Given the description of an element on the screen output the (x, y) to click on. 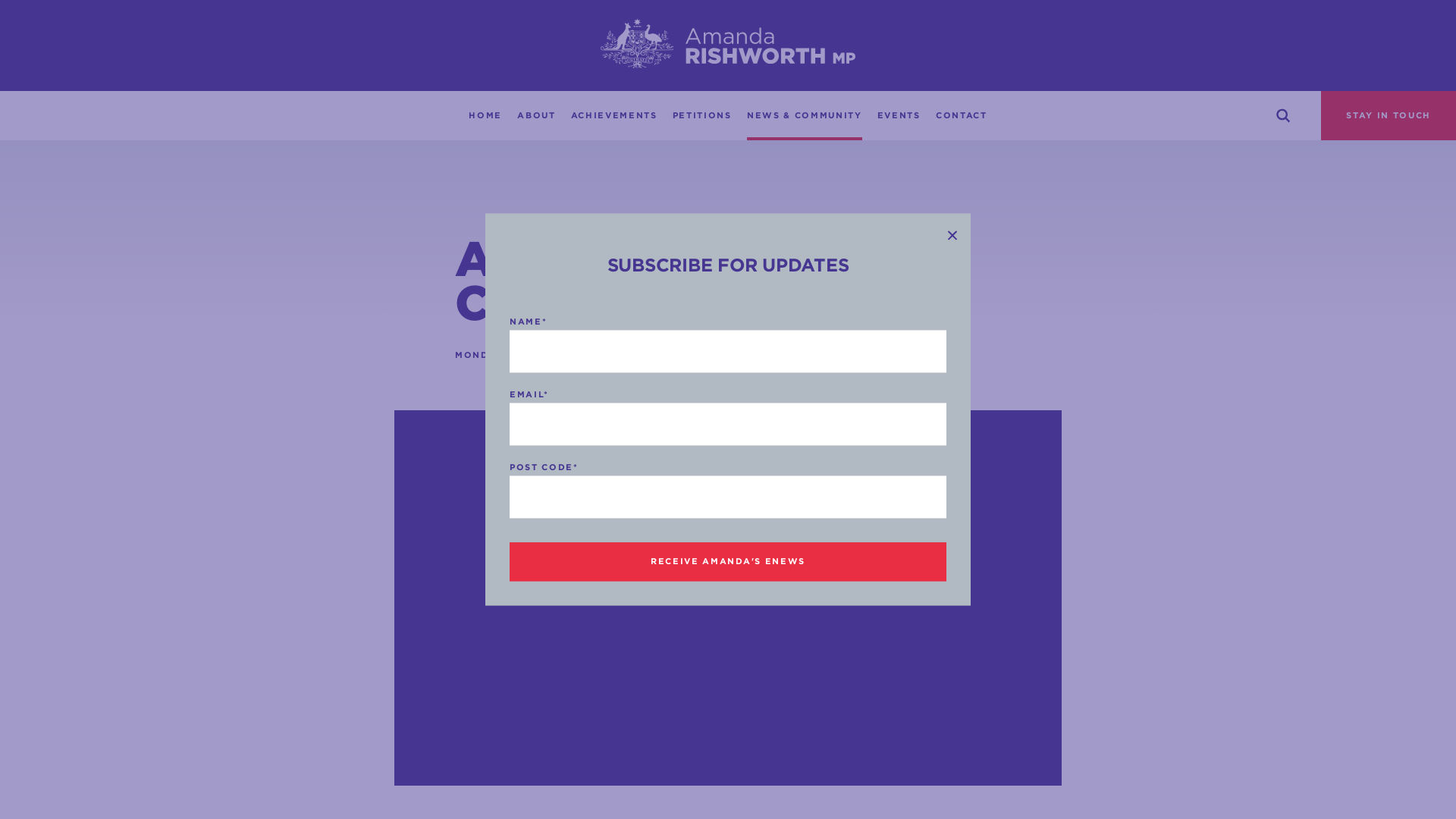
ACHIEVEMENTS (614, 115)
CONTACT (961, 115)
Receive Amanda's eNews (727, 561)
PETITIONS (702, 115)
Receive Amanda's eNews (727, 561)
